Given the description of an element on the screen output the (x, y) to click on. 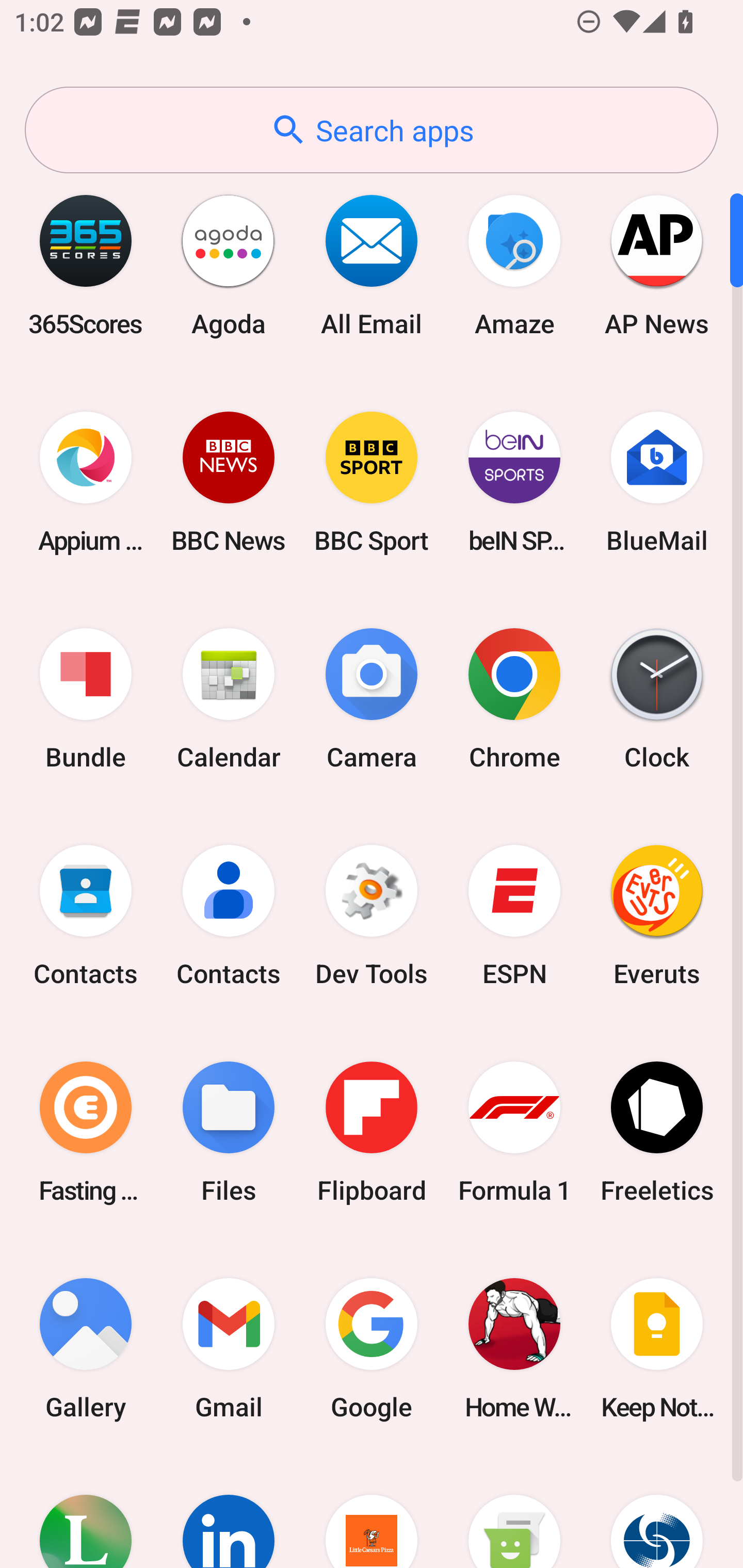
  Search apps (371, 130)
365Scores (85, 264)
Agoda (228, 264)
All Email (371, 264)
Amaze (514, 264)
AP News (656, 264)
Appium Settings (85, 482)
BBC News (228, 482)
BBC Sport (371, 482)
beIN SPORTS (514, 482)
BlueMail (656, 482)
Bundle (85, 699)
Calendar (228, 699)
Camera (371, 699)
Chrome (514, 699)
Clock (656, 699)
Contacts (85, 915)
Contacts (228, 915)
Dev Tools (371, 915)
ESPN (514, 915)
Everuts (656, 915)
Fasting Coach (85, 1131)
Files (228, 1131)
Flipboard (371, 1131)
Formula 1 (514, 1131)
Freeletics (656, 1131)
Gallery (85, 1348)
Gmail (228, 1348)
Google (371, 1348)
Home Workout (514, 1348)
Keep Notes (656, 1348)
